Given the description of an element on the screen output the (x, y) to click on. 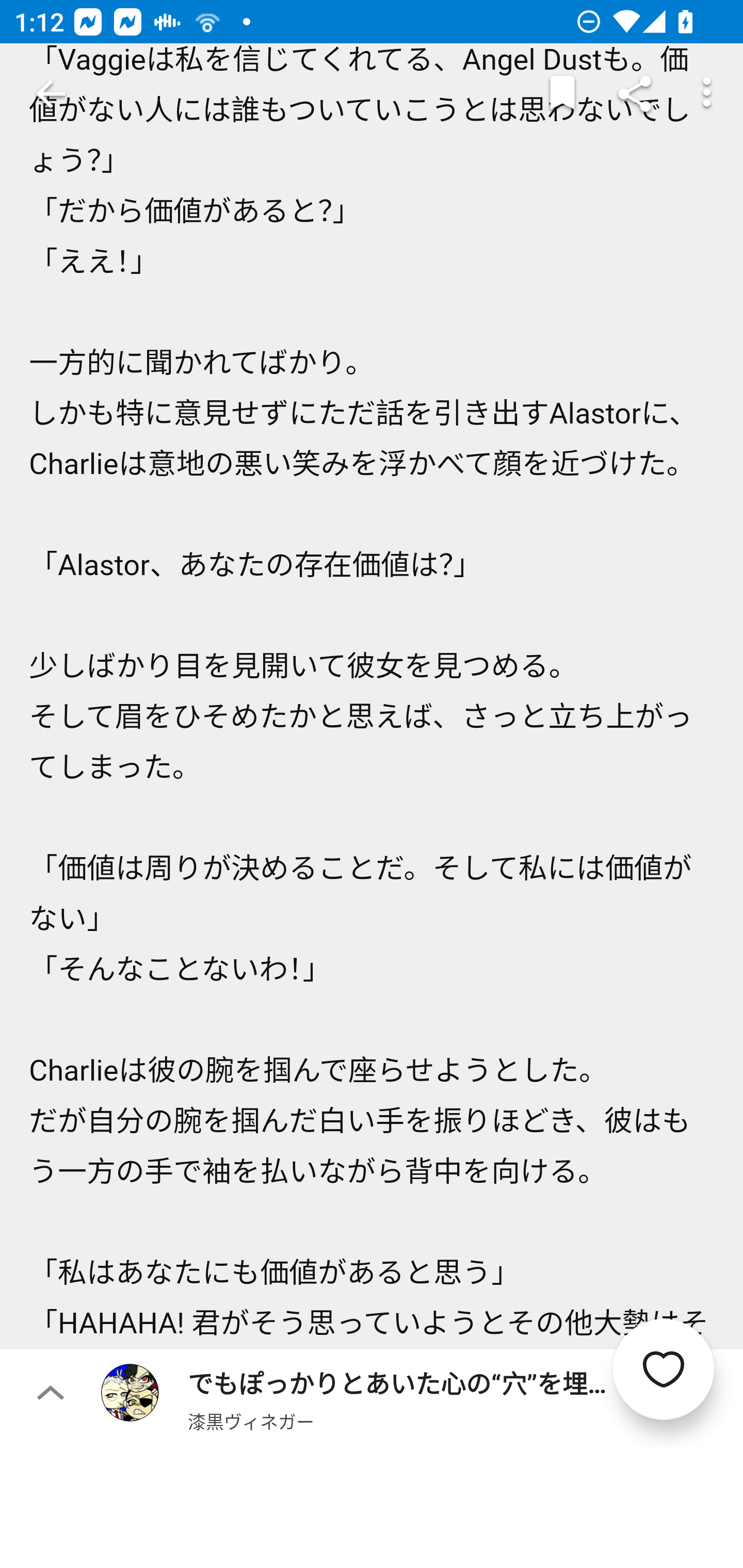
Navigate up (50, 93)
Markers (562, 93)
Share (634, 93)
More options (706, 93)
漆黒ヴィネガー (250, 1421)
